Given the description of an element on the screen output the (x, y) to click on. 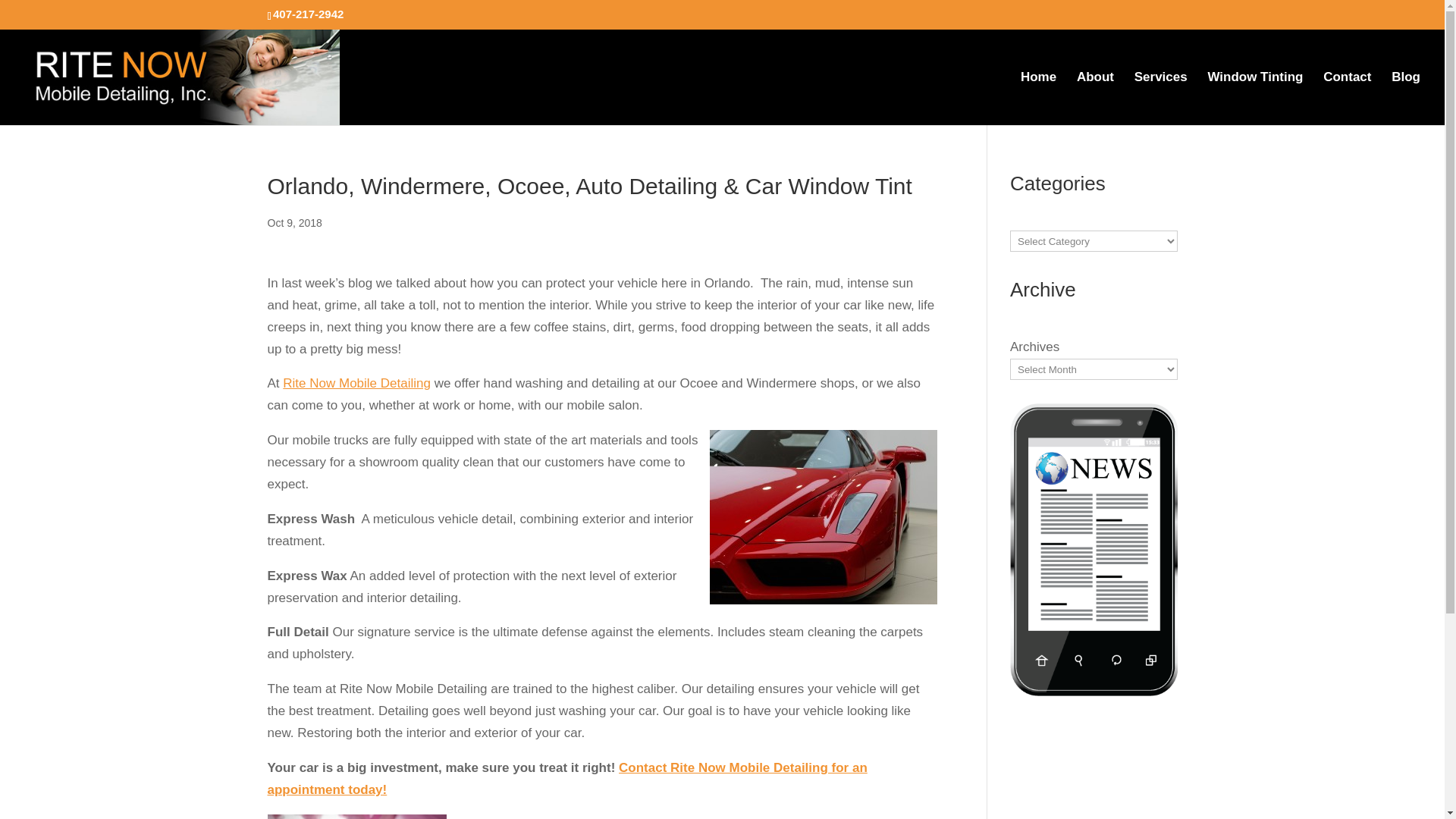
Services (1161, 97)
Rite Now Mobile Detailing (356, 382)
Contact (1347, 97)
Window Tinting (1255, 97)
Contact Rite Now Mobile Detailing for an appointment today! (566, 778)
